Given the description of an element on the screen output the (x, y) to click on. 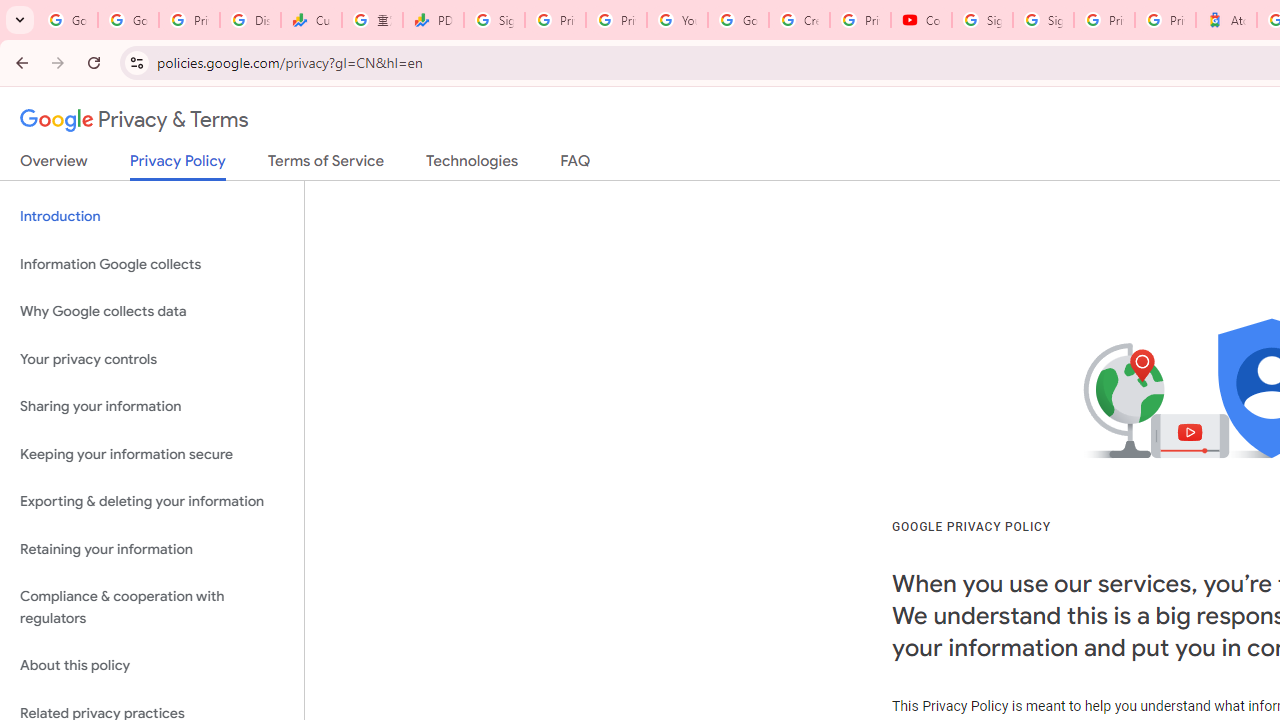
Your privacy controls (152, 358)
Retaining your information (152, 548)
Content Creator Programs & Opportunities - YouTube Creators (921, 20)
Privacy Checkup (616, 20)
Google Workspace Admin Community (67, 20)
Atour Hotel - Google hotels (1225, 20)
Why Google collects data (152, 312)
YouTube (676, 20)
